Given the description of an element on the screen output the (x, y) to click on. 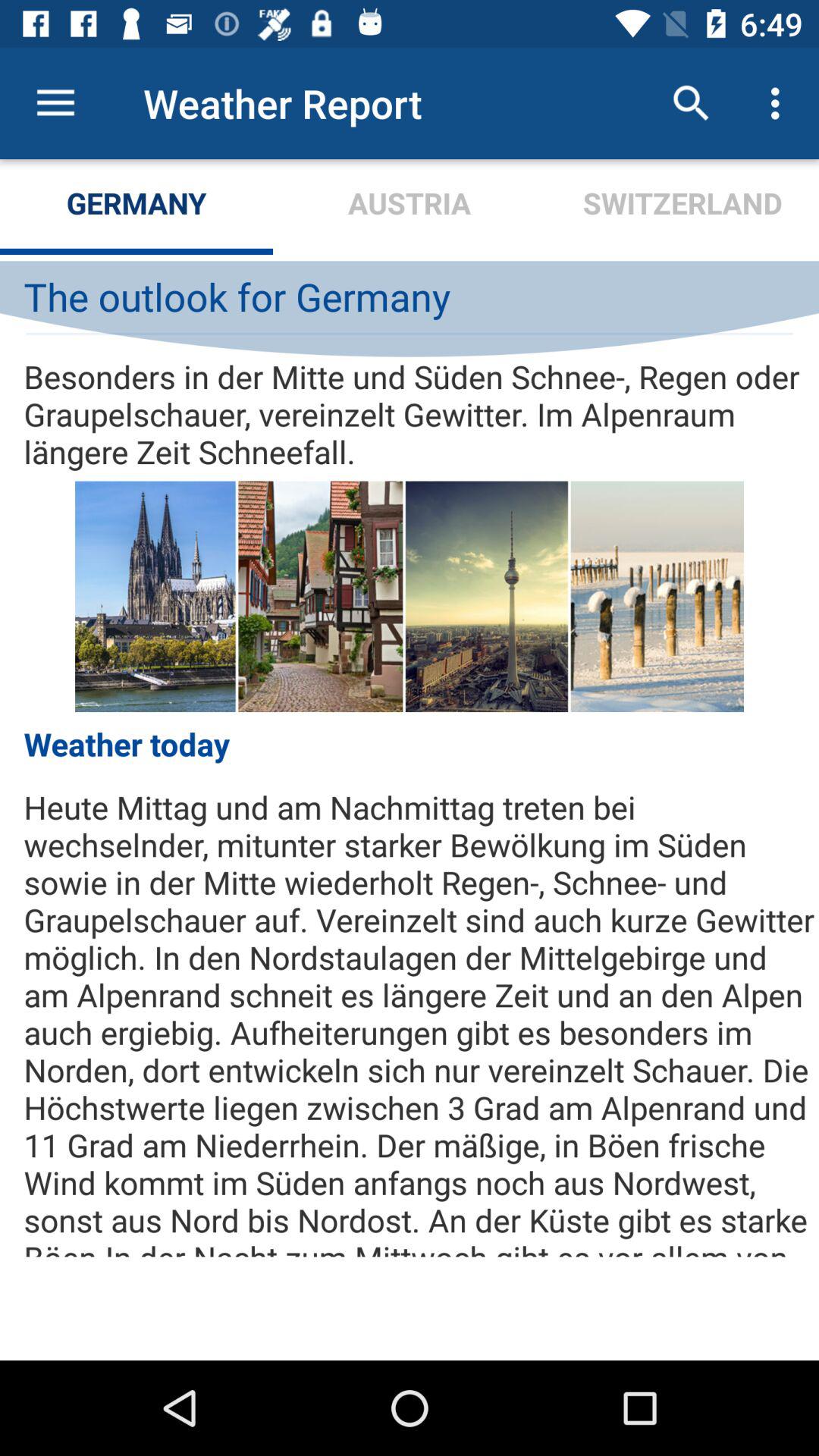
click the icon next to switzerland item (409, 206)
